Given the description of an element on the screen output the (x, y) to click on. 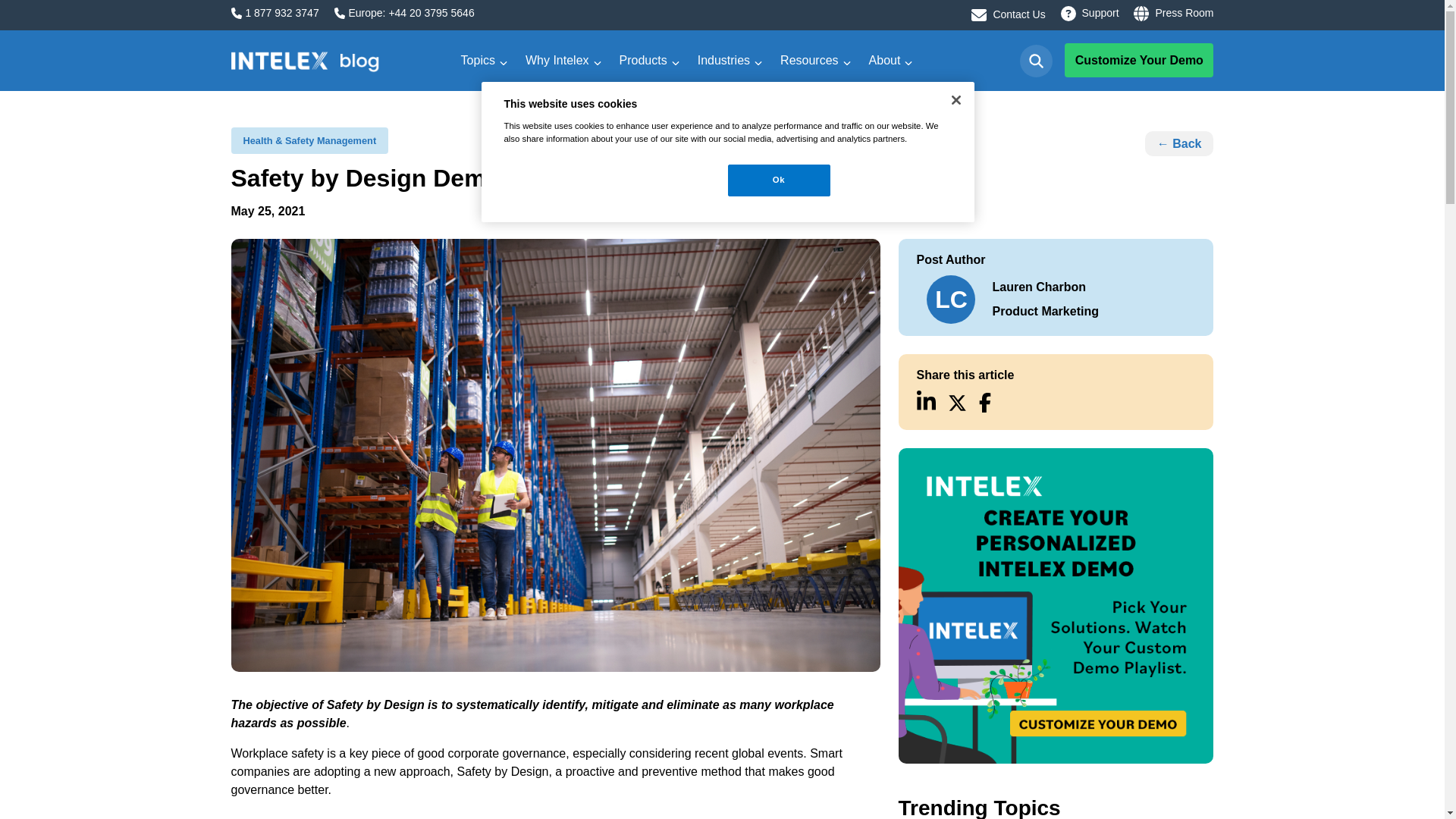
Press Room (1183, 13)
Support (1100, 13)
Products (643, 60)
Topics (478, 60)
1 877 932 3747 (281, 13)
Why Intelex (557, 60)
Contact Us (1018, 14)
